Given the description of an element on the screen output the (x, y) to click on. 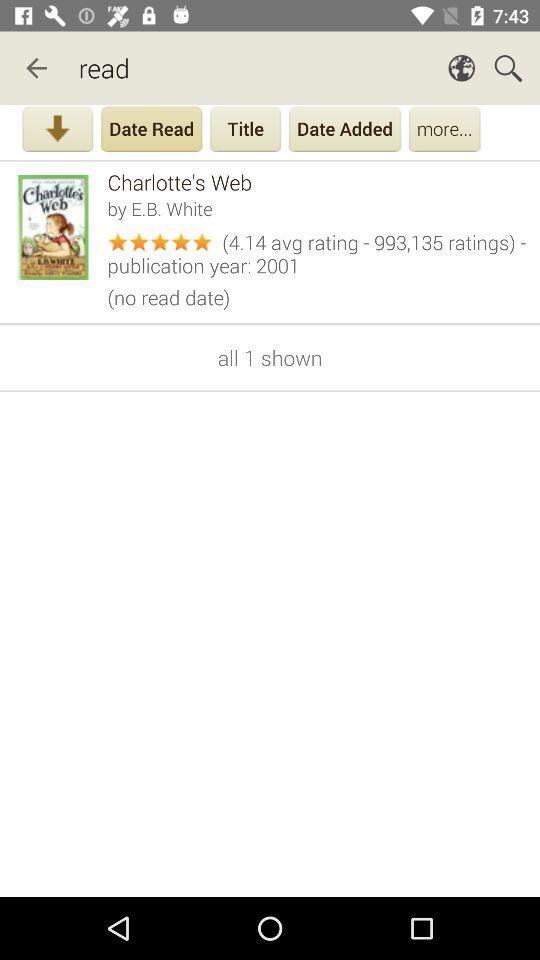
press the icon above by e b icon (316, 182)
